Given the description of an element on the screen output the (x, y) to click on. 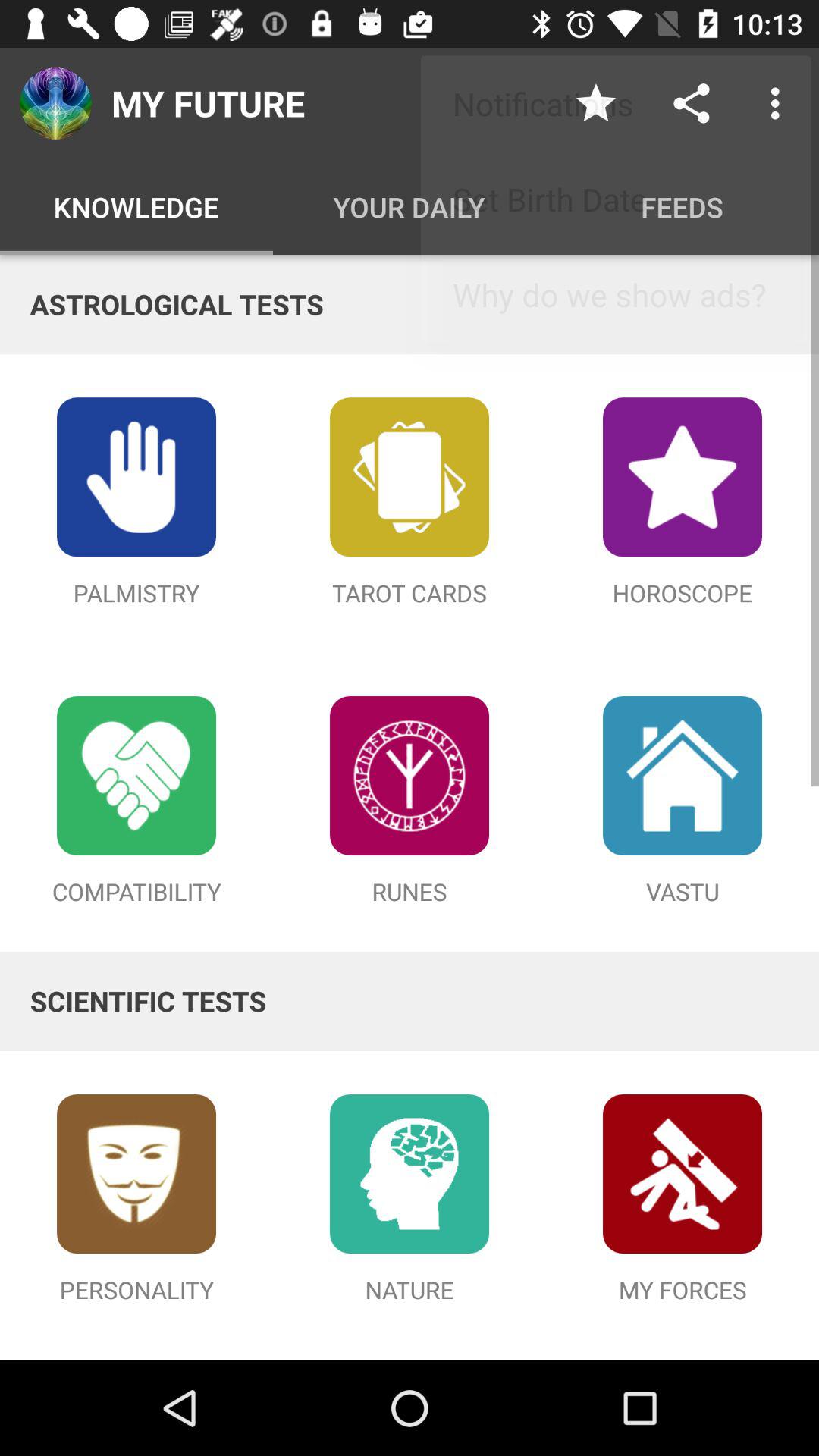
select the icon above astrological tests item (779, 103)
